Given the description of an element on the screen output the (x, y) to click on. 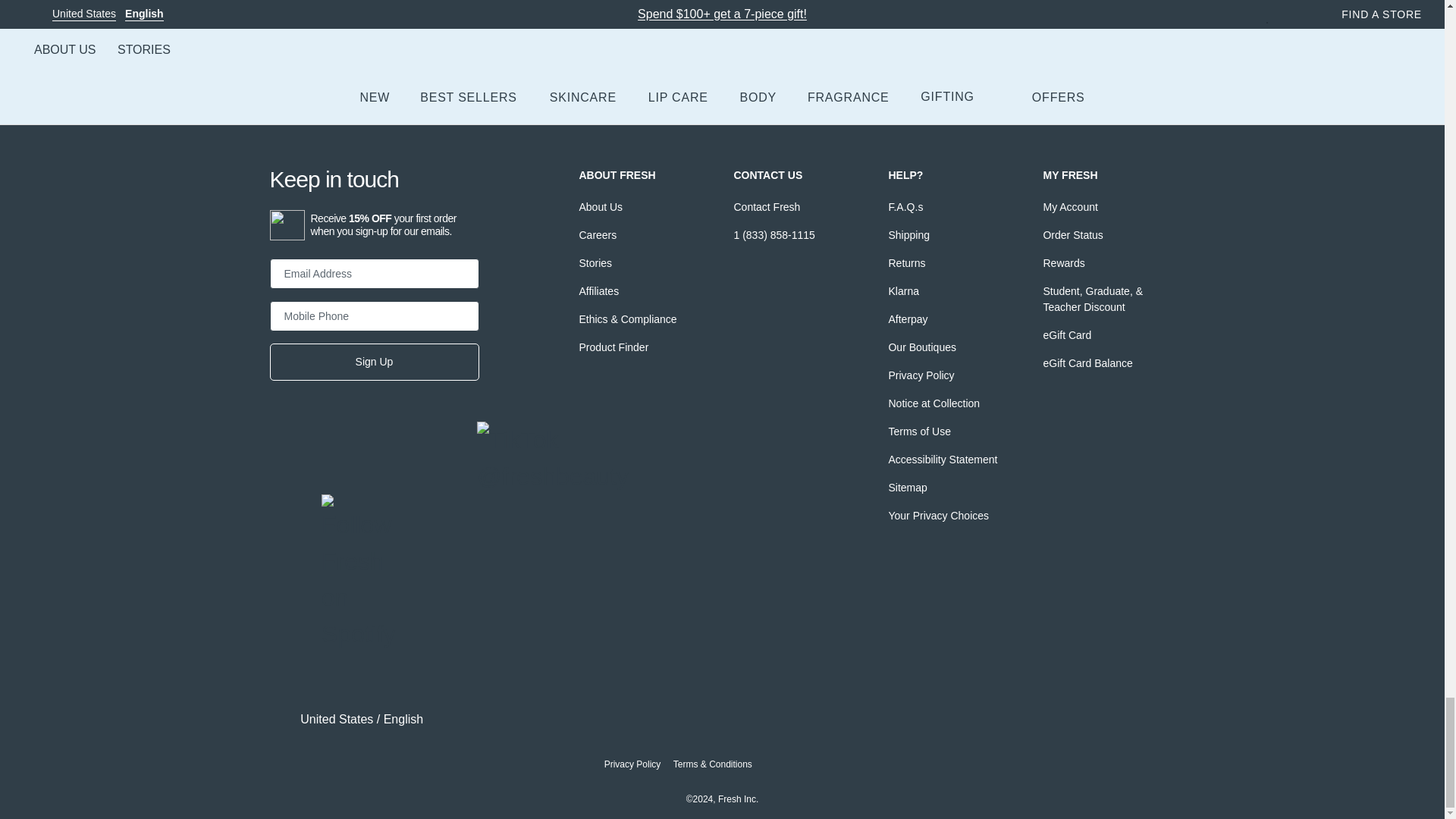
Pinterest (437, 475)
TikTok (488, 433)
Youtube (281, 633)
Twitter (333, 475)
Spotify (333, 506)
Facebook (281, 475)
Instagram (384, 475)
Product Finder (612, 346)
